Given the description of an element on the screen output the (x, y) to click on. 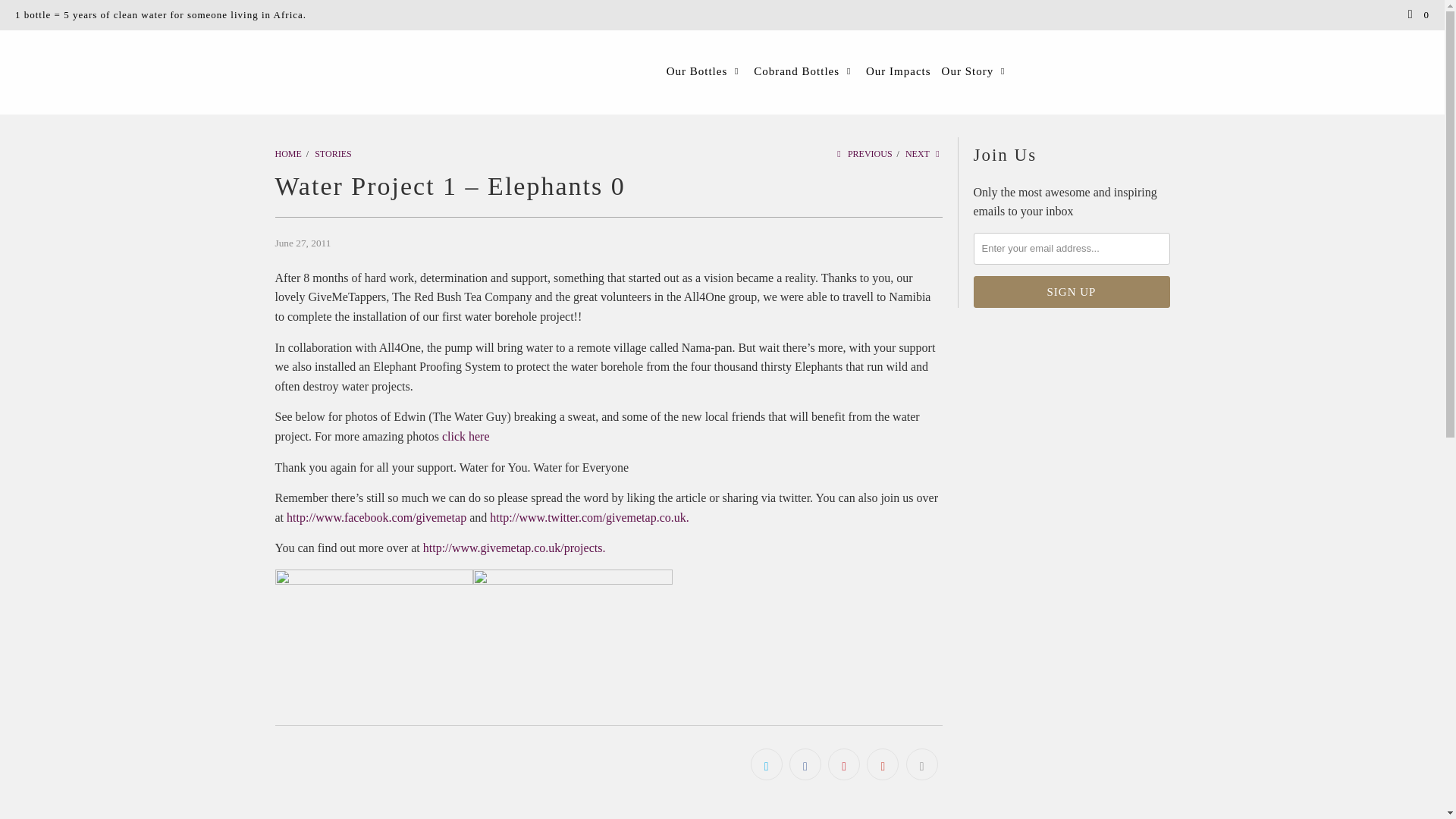
Our Impacts (898, 72)
Our Bottles (705, 71)
Email this to a friend (921, 764)
Stories (332, 153)
Cobrand Bottles (805, 71)
GiveMeTap (288, 153)
Share this on Twitter (767, 764)
Share this on Facebook (805, 764)
Our Story (976, 71)
Sign Up (1072, 291)
GiveMeTap (115, 39)
Share this on Pinterest (844, 764)
